Given the description of an element on the screen output the (x, y) to click on. 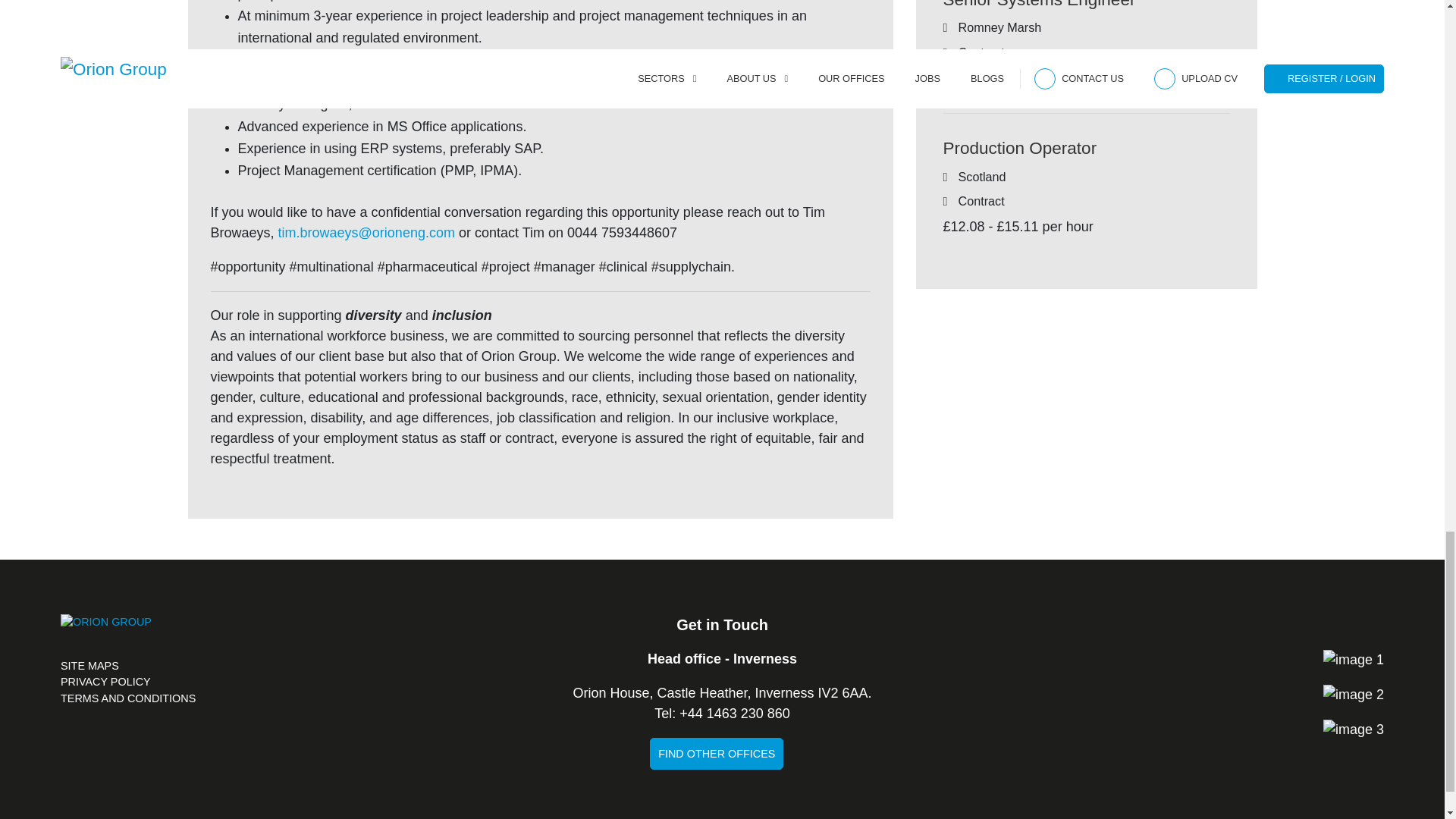
Orion Group (106, 635)
